Given the description of an element on the screen output the (x, y) to click on. 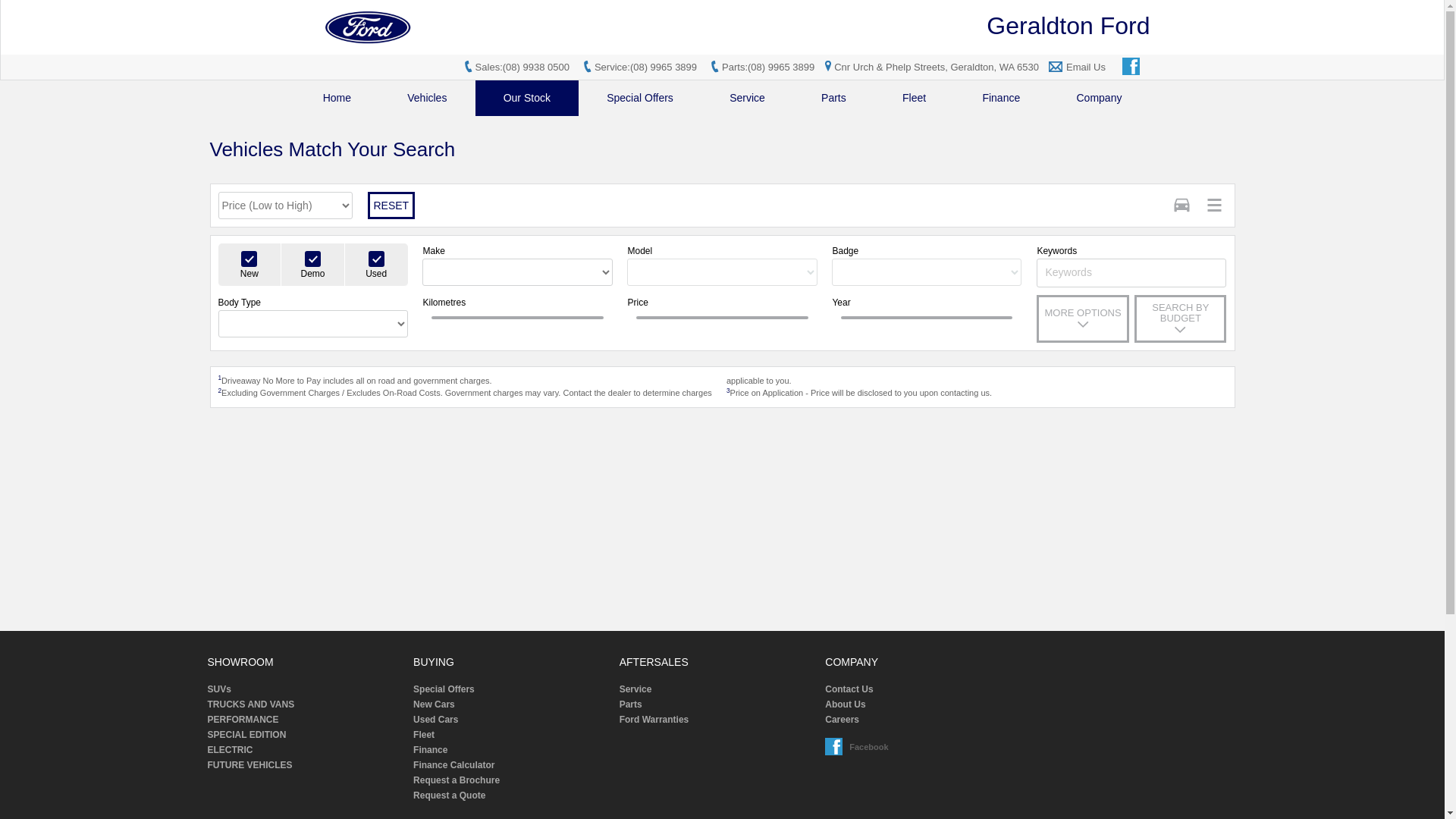
Facebook Element type: text (1132, 66)
PERFORMANCE Element type: text (305, 719)
Used Cars Element type: text (510, 719)
Our Stock Element type: text (527, 98)
TRUCKS AND VANS Element type: text (305, 704)
New Cars Element type: text (510, 704)
Parts Element type: text (717, 704)
Request a Quote Element type: text (510, 795)
SPECIAL EDITION Element type: text (305, 734)
Request a Brochure Element type: text (510, 779)
Finance Element type: text (510, 749)
Home Element type: text (336, 98)
Careers Element type: text (922, 719)
Special Offers Element type: text (639, 98)
Service:(08) 9965 3899 Element type: text (645, 66)
Vehicles Element type: text (426, 98)
SEARCH BY BUDGET Element type: text (1180, 318)
Finance Element type: text (1000, 98)
About Us Element type: text (922, 704)
FUTURE VEHICLES Element type: text (305, 764)
Cnr Urch & Phelp Streets, Geraldton, WA 6530 Element type: text (929, 66)
Special Offers Element type: text (510, 688)
Service Element type: text (717, 688)
Ford Warranties Element type: text (717, 719)
Parts:(08) 9965 3899 Element type: text (767, 66)
Contact Us Element type: text (922, 688)
Parts Element type: text (833, 98)
Sales:(08) 9938 0500 Element type: text (522, 66)
MORE OPTIONS Element type: text (1082, 318)
Fleet Element type: text (510, 734)
Finance Calculator Element type: text (510, 764)
Email Us Element type: text (1085, 66)
Company Element type: text (1098, 98)
Facebook Element type: text (834, 746)
ELECTRIC Element type: text (305, 749)
SUVs Element type: text (305, 688)
Fleet Element type: text (913, 98)
Service Element type: text (747, 98)
RESET Element type: text (390, 205)
